Given the description of an element on the screen output the (x, y) to click on. 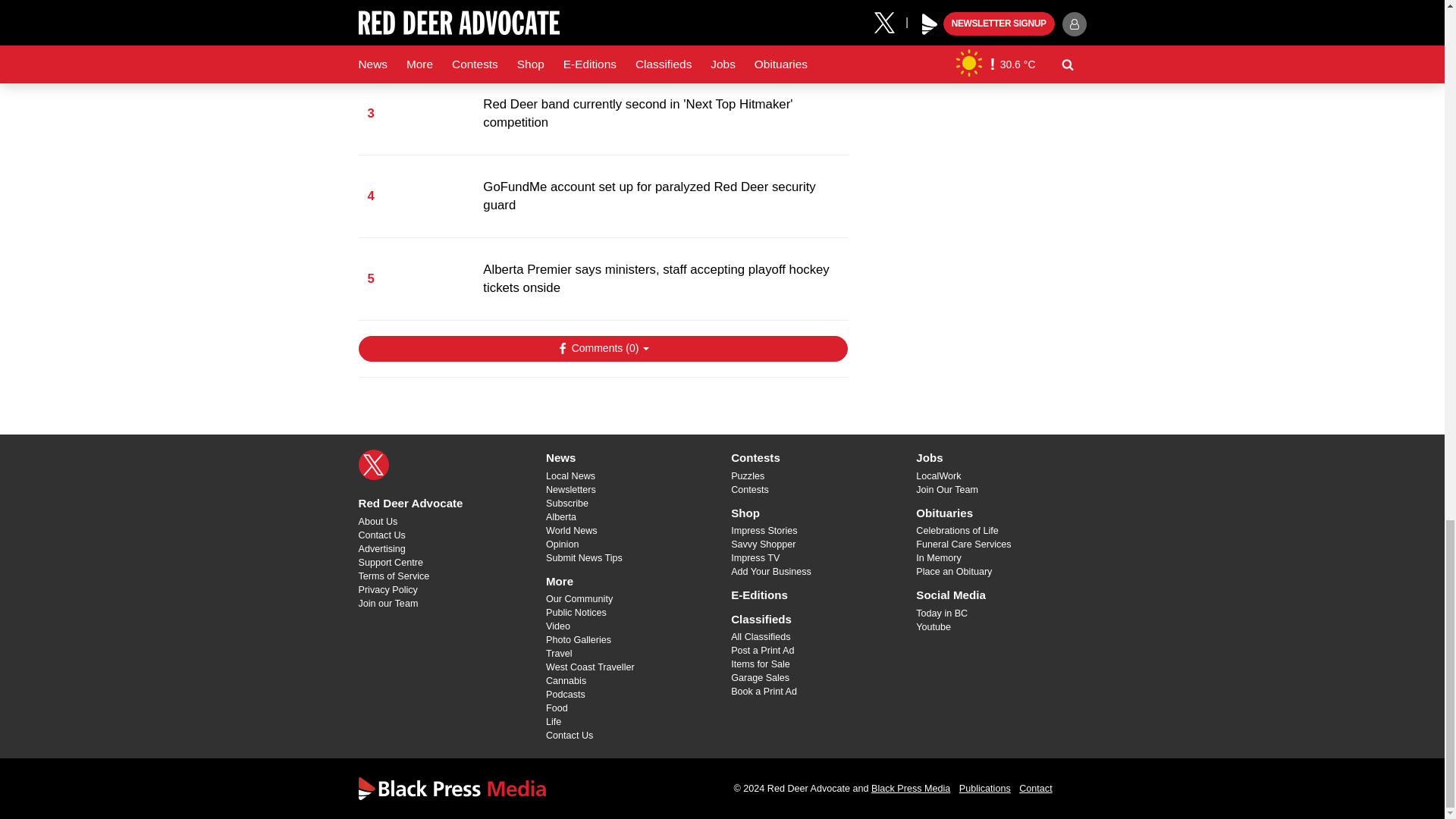
Show Comments (602, 348)
X (373, 464)
